Given the description of an element on the screen output the (x, y) to click on. 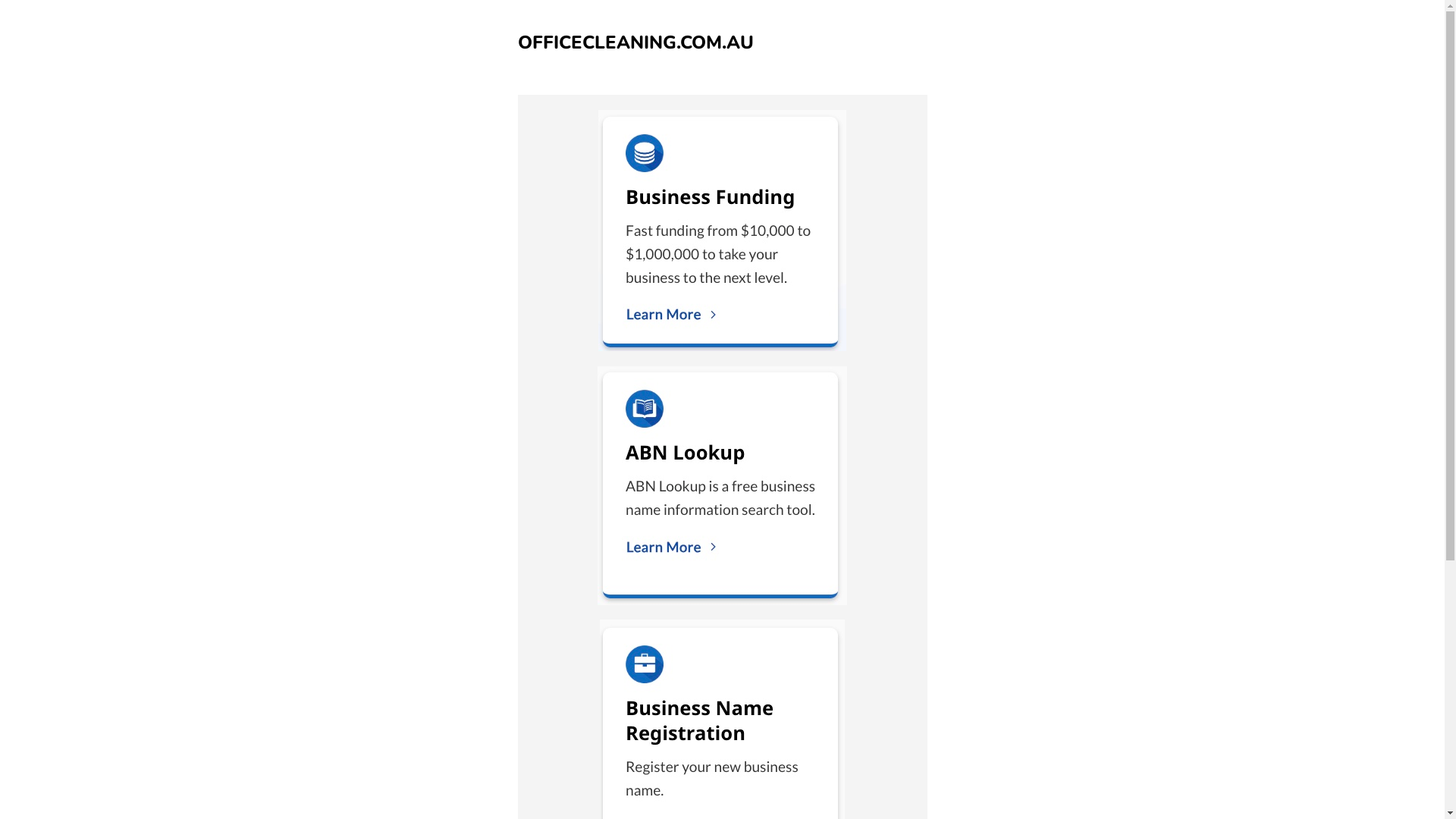
OFFICECLEANING.COM.AU Element type: text (635, 42)
